Given the description of an element on the screen output the (x, y) to click on. 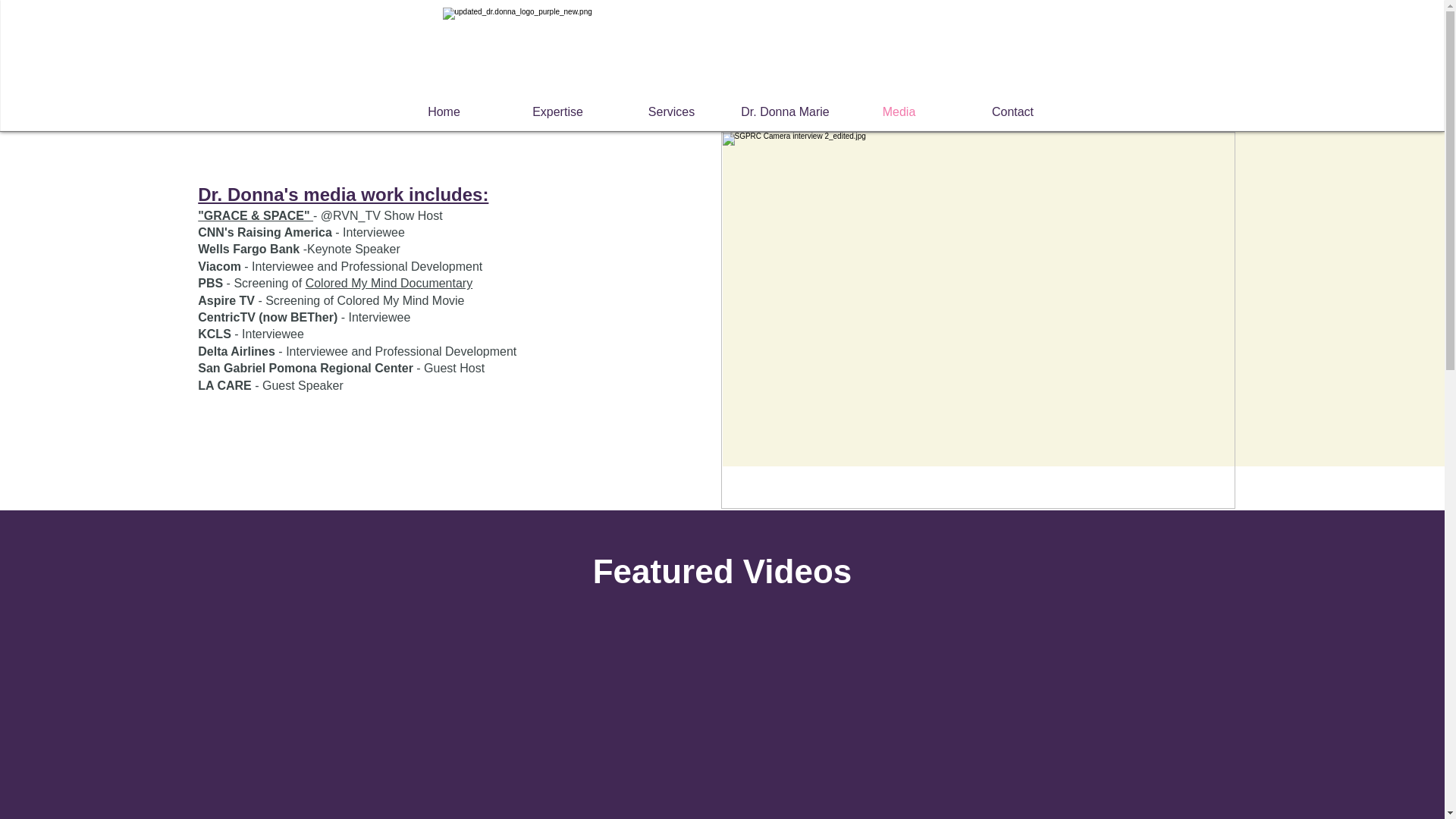
Dr. Donna Marie (784, 111)
Expertise (557, 111)
Media (898, 111)
Colored My Mind Documentary (389, 282)
Contact (1011, 111)
Services (671, 111)
Home (443, 111)
